Given the description of an element on the screen output the (x, y) to click on. 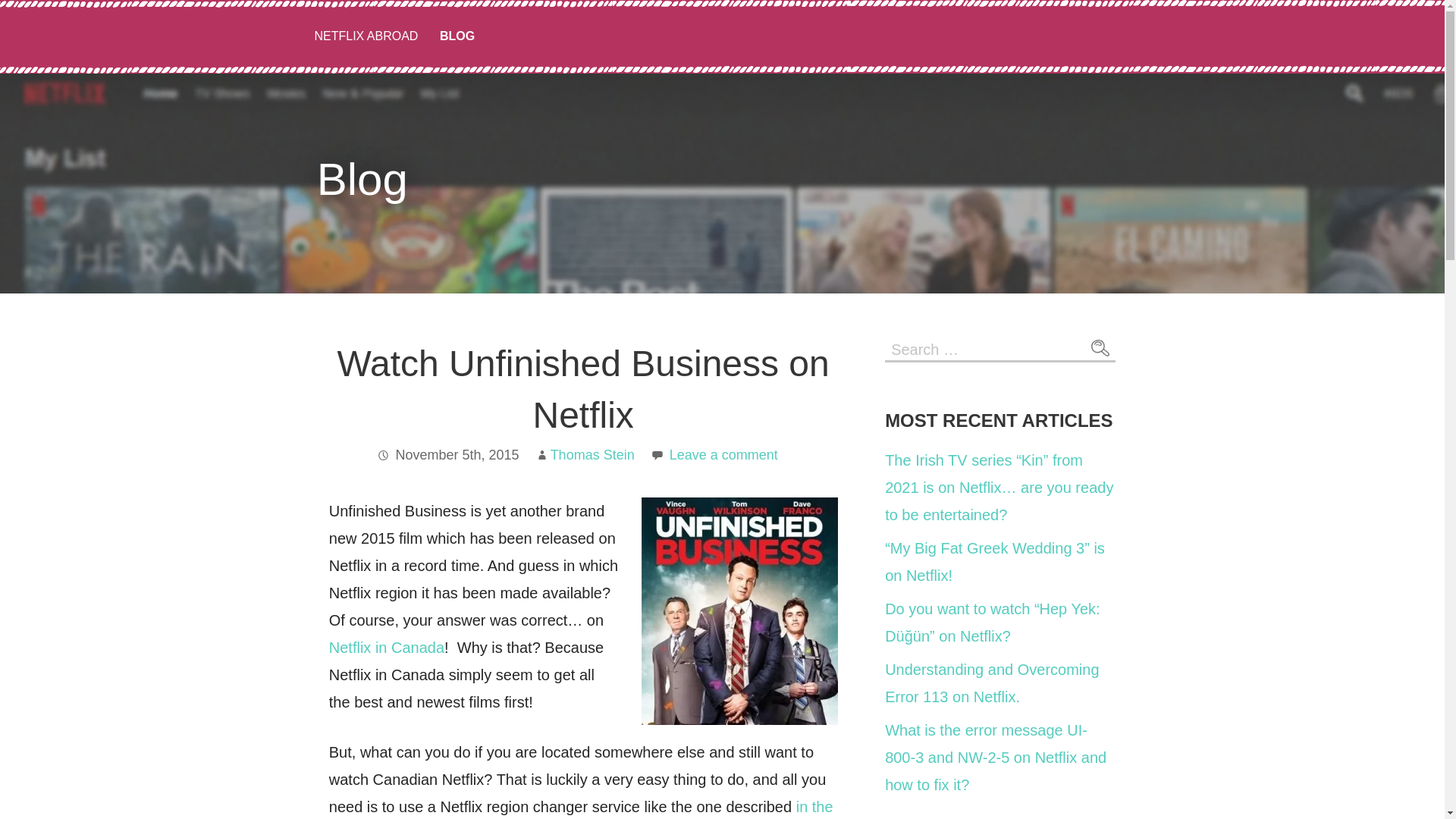
Netflix in Canada (386, 647)
Search (1099, 347)
in the following article (580, 808)
Thomas Stein (592, 454)
Understanding and Overcoming Error 113 on Netflix. (992, 682)
Search (1099, 347)
Posts by Thomas Stein (592, 454)
NETFLIX ABROAD (365, 36)
BLOG (456, 36)
